Given the description of an element on the screen output the (x, y) to click on. 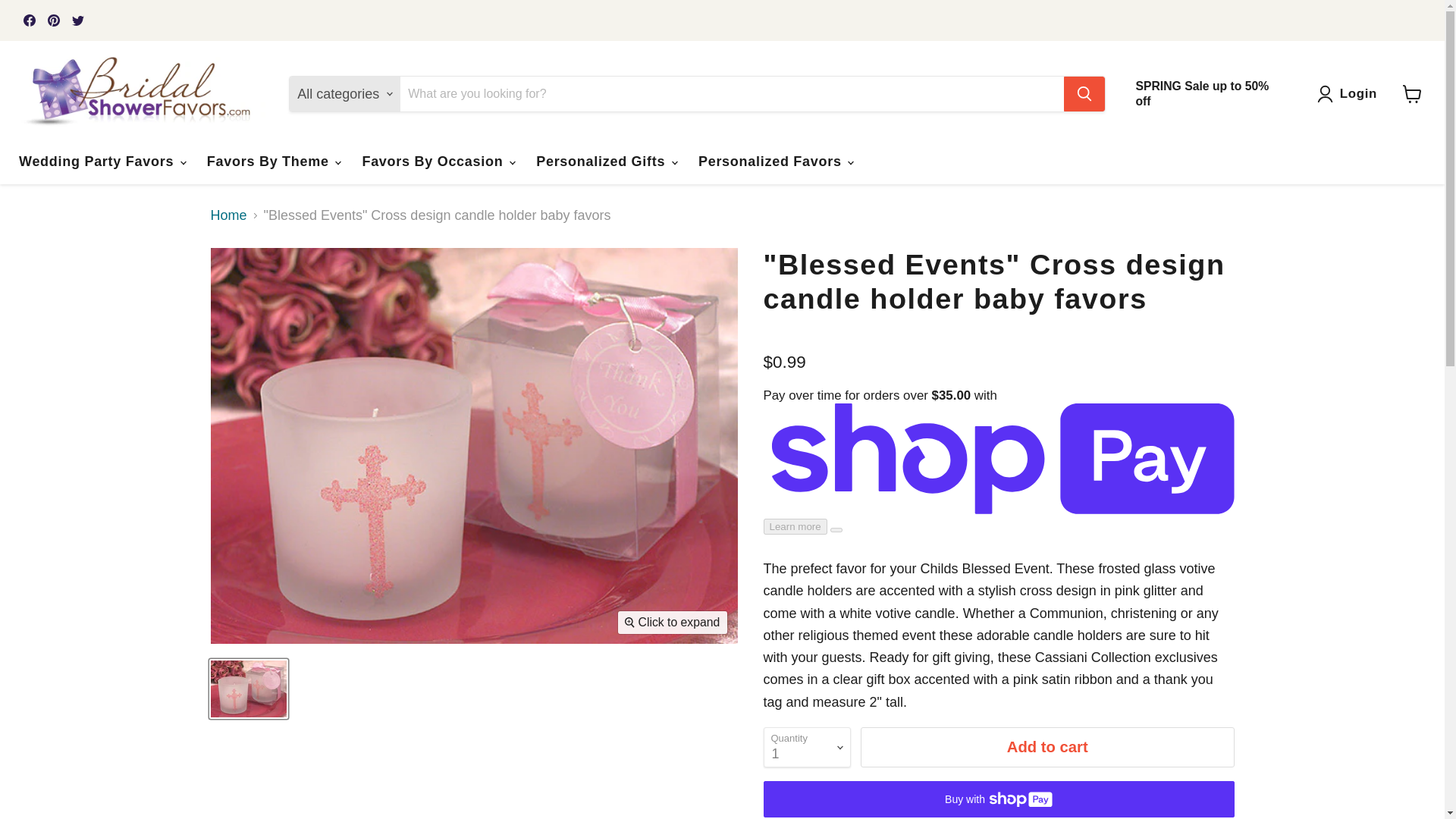
Find us on Facebook (29, 20)
Find us on Pinterest (53, 20)
Pinterest (53, 20)
View cart (1411, 93)
Twitter (77, 20)
Facebook (29, 20)
Login (1358, 94)
Find us on Twitter (77, 20)
